Given the description of an element on the screen output the (x, y) to click on. 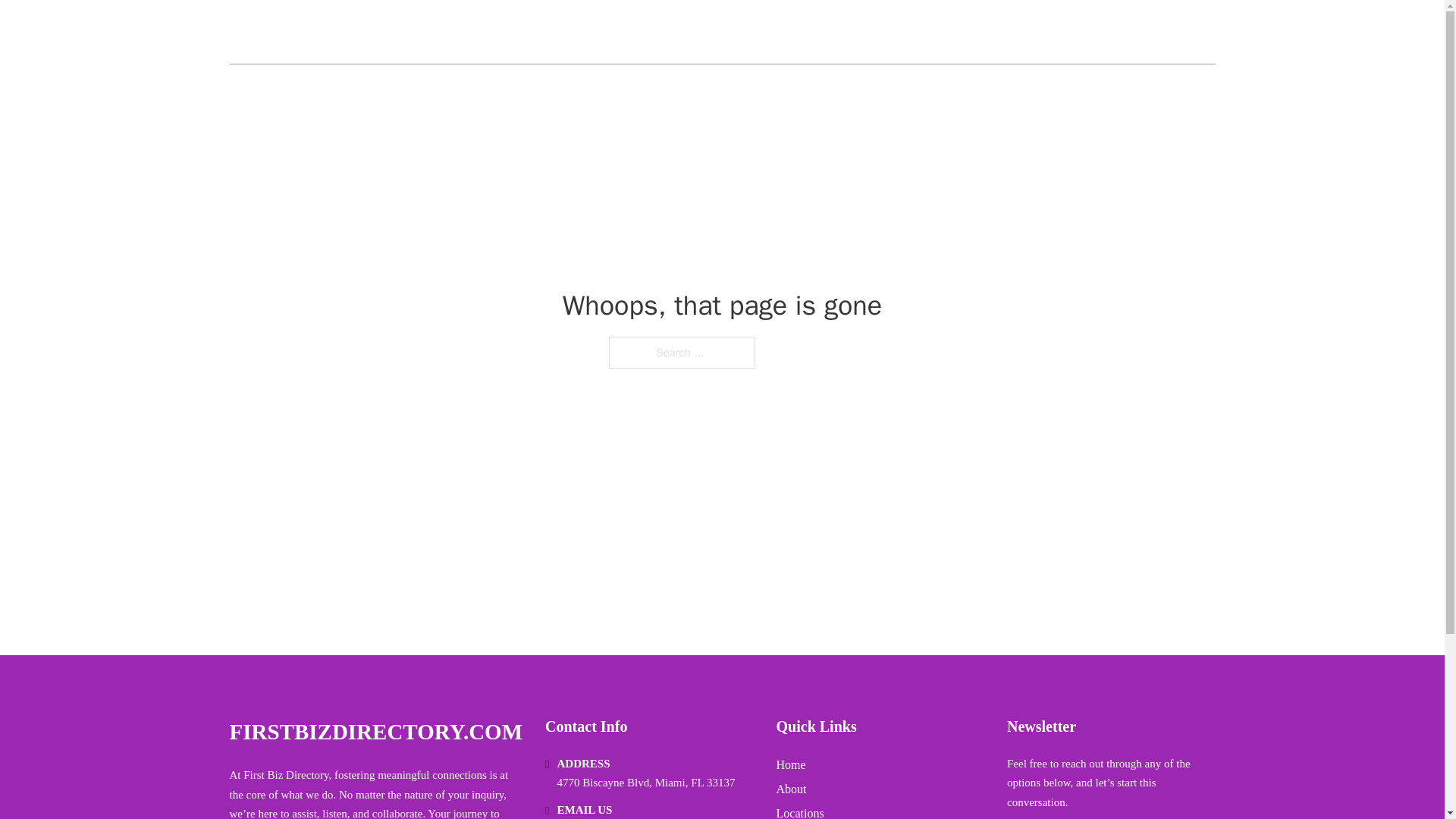
HOME (1032, 31)
Locations (800, 811)
About (791, 788)
FIRSTBIZDIRECTORY.COM (375, 732)
Home (791, 764)
FIRSTBIZDIRECTORY.COM (390, 31)
LOCATIONS (1105, 31)
